Given the description of an element on the screen output the (x, y) to click on. 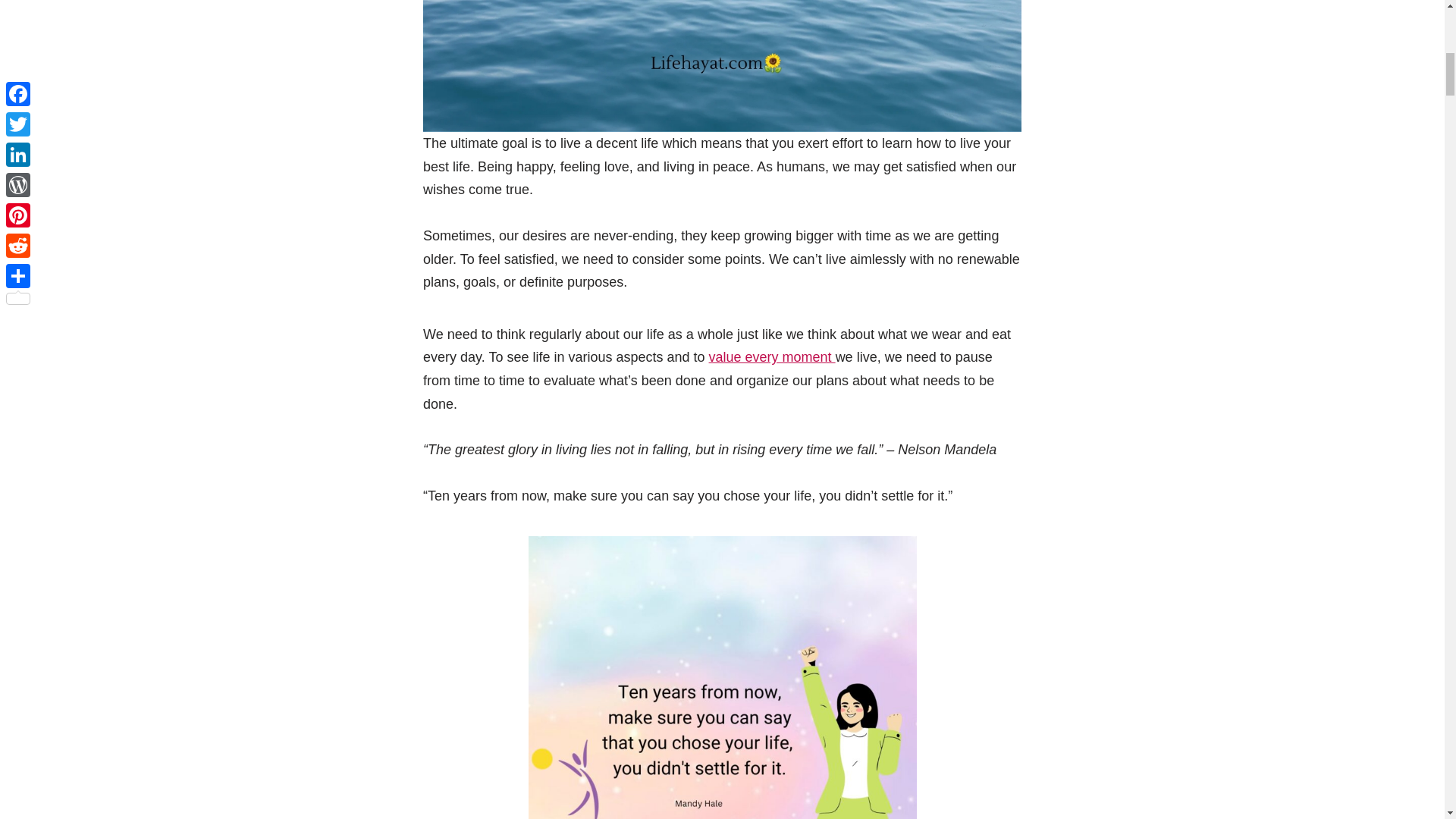
value every moment (772, 356)
